Given the description of an element on the screen output the (x, y) to click on. 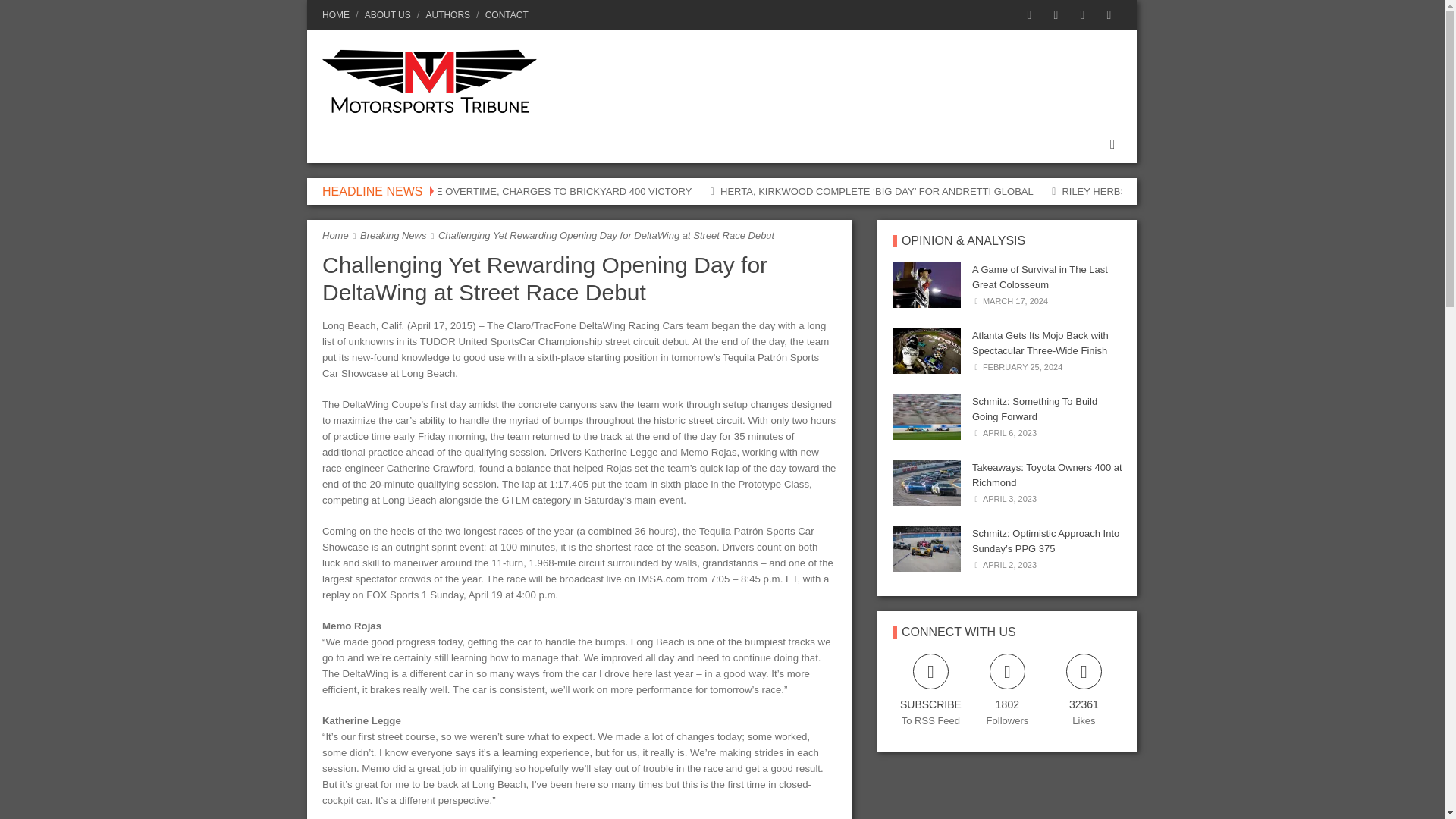
AUTHORS (447, 14)
ABOUT US (387, 14)
RILEY HERBST WINS XFINITY SERIES THRILLER AT INDIANAPOLIS (1218, 191)
FEATURES (652, 143)
A Game of Survival in The Last Great Colosseum (1040, 276)
A Game of Survival in The Last Great Colosseum (926, 284)
CONTACT (503, 14)
Home (335, 235)
MULTIMEDIA (748, 143)
Breaking News (392, 235)
NASCAR (347, 143)
HOME (338, 14)
INDYCAR (427, 143)
DRIVER COLUMNS (536, 143)
